Given the description of an element on the screen output the (x, y) to click on. 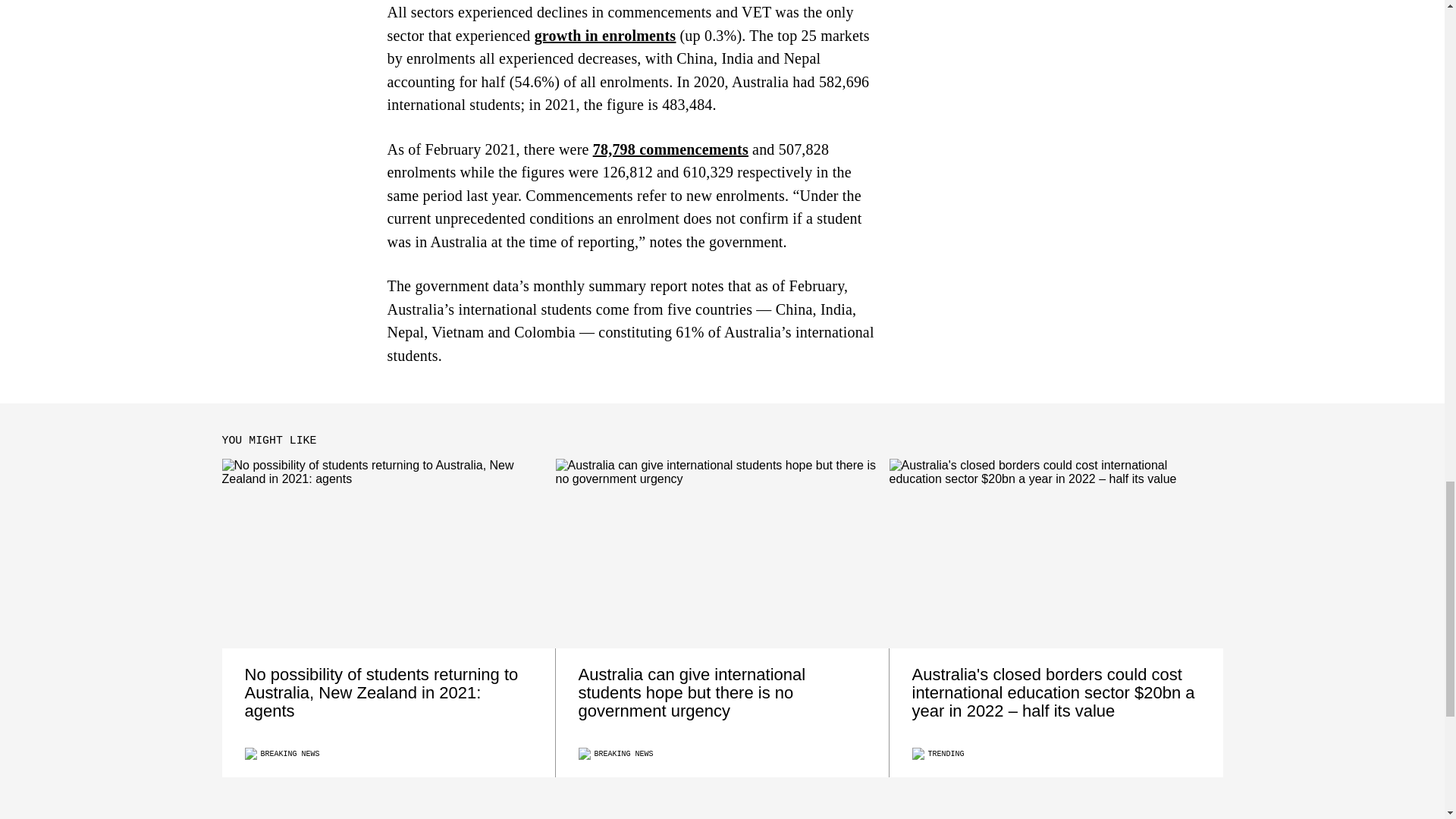
78,798 commencements (670, 149)
growth in enrolments (605, 35)
